Given the description of an element on the screen output the (x, y) to click on. 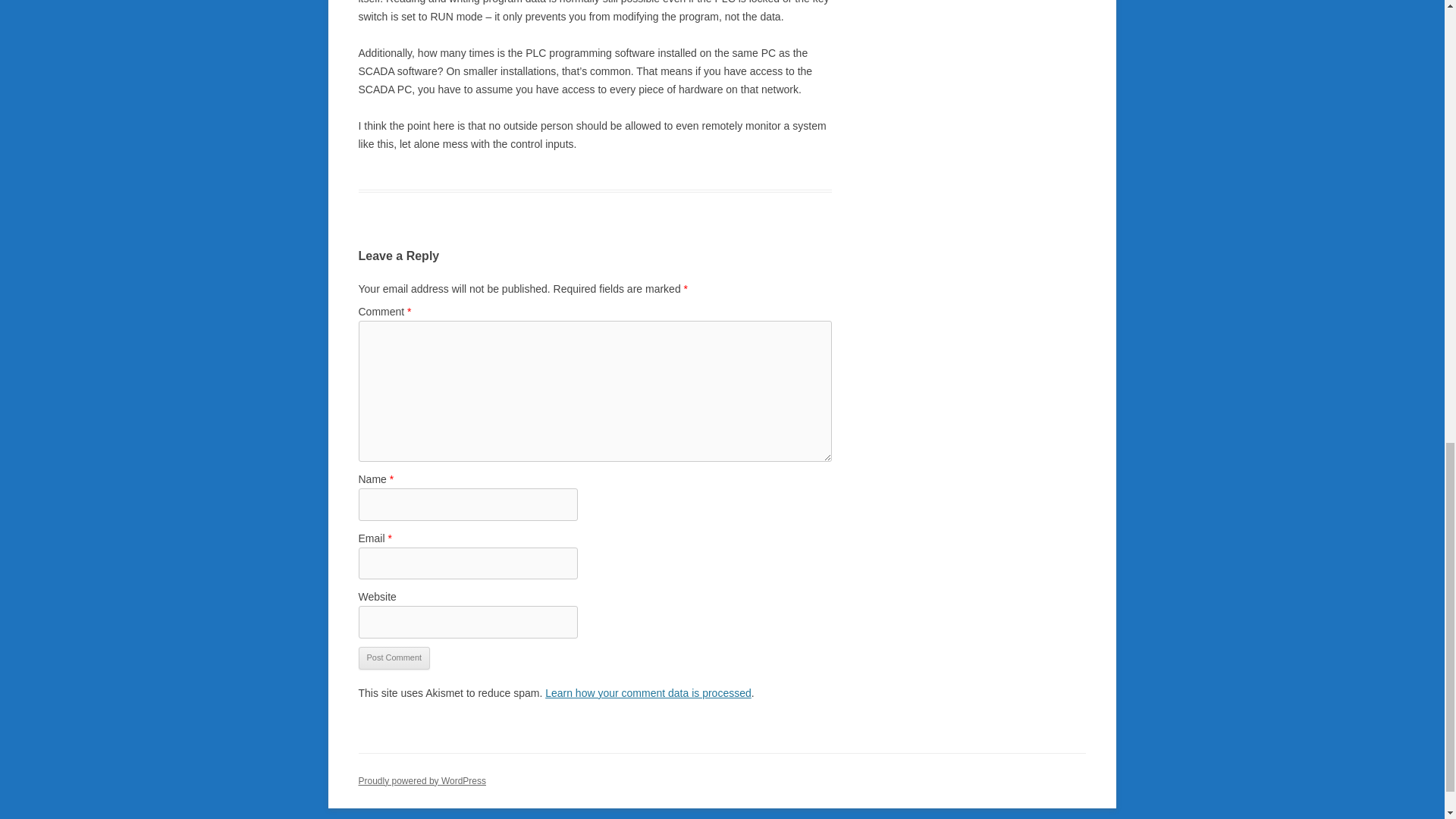
Semantic Personal Publishing Platform (422, 780)
Post Comment (393, 658)
